Given the description of an element on the screen output the (x, y) to click on. 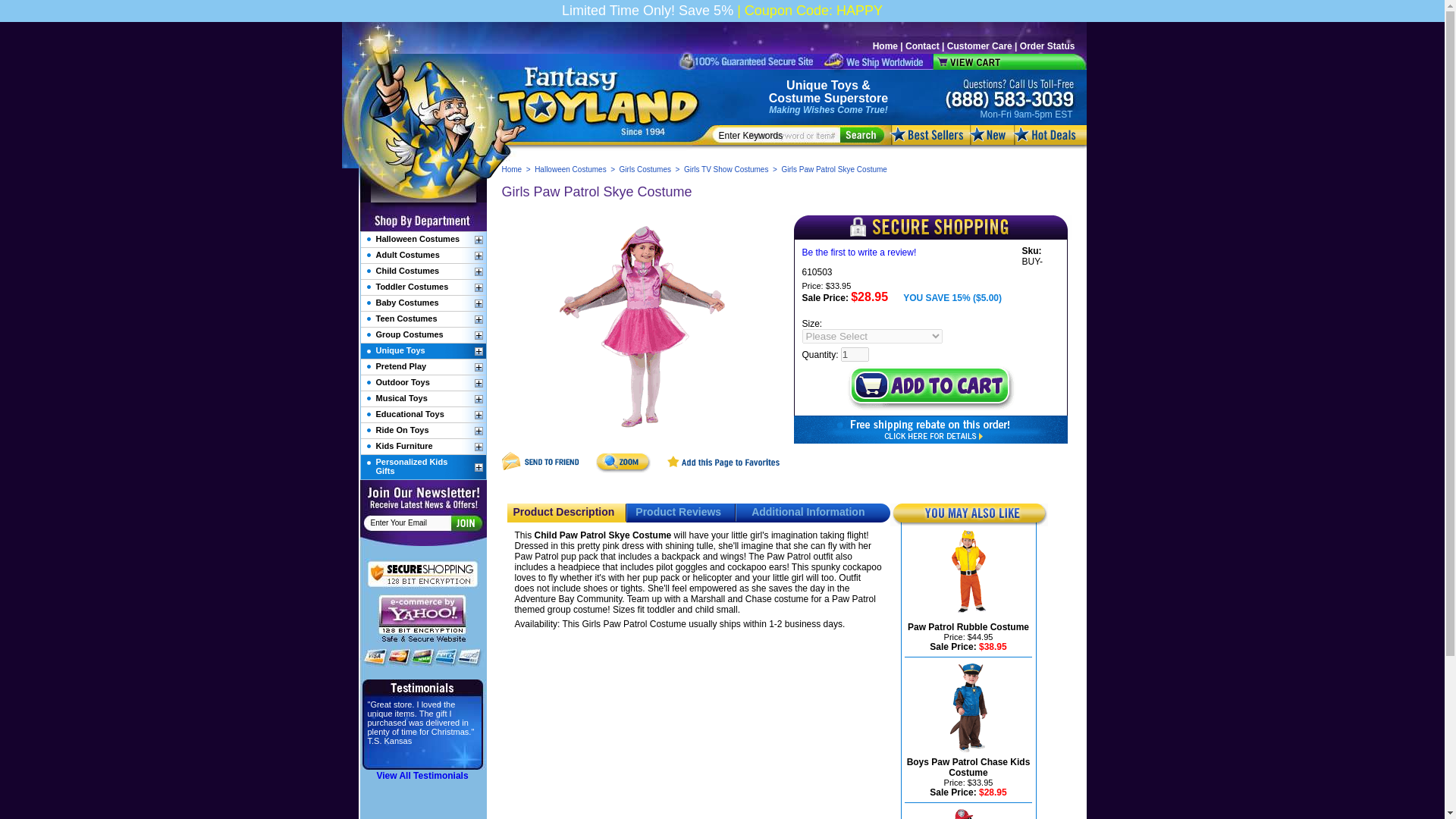
Product Description (563, 511)
Costume (794, 97)
Girls Paw Patrol Skye Costume (642, 329)
Search (861, 134)
Order Status (1047, 45)
Boys Paw Patrol Chase Kids Costume (968, 767)
Unique Toys (822, 84)
Home (512, 169)
Customer Care (979, 45)
Paw Patrol Rubble Costume (968, 626)
Be the first to write a review! (859, 252)
Halloween Costumes (570, 169)
Search (861, 134)
Size (872, 336)
Contact (922, 45)
